Given the description of an element on the screen output the (x, y) to click on. 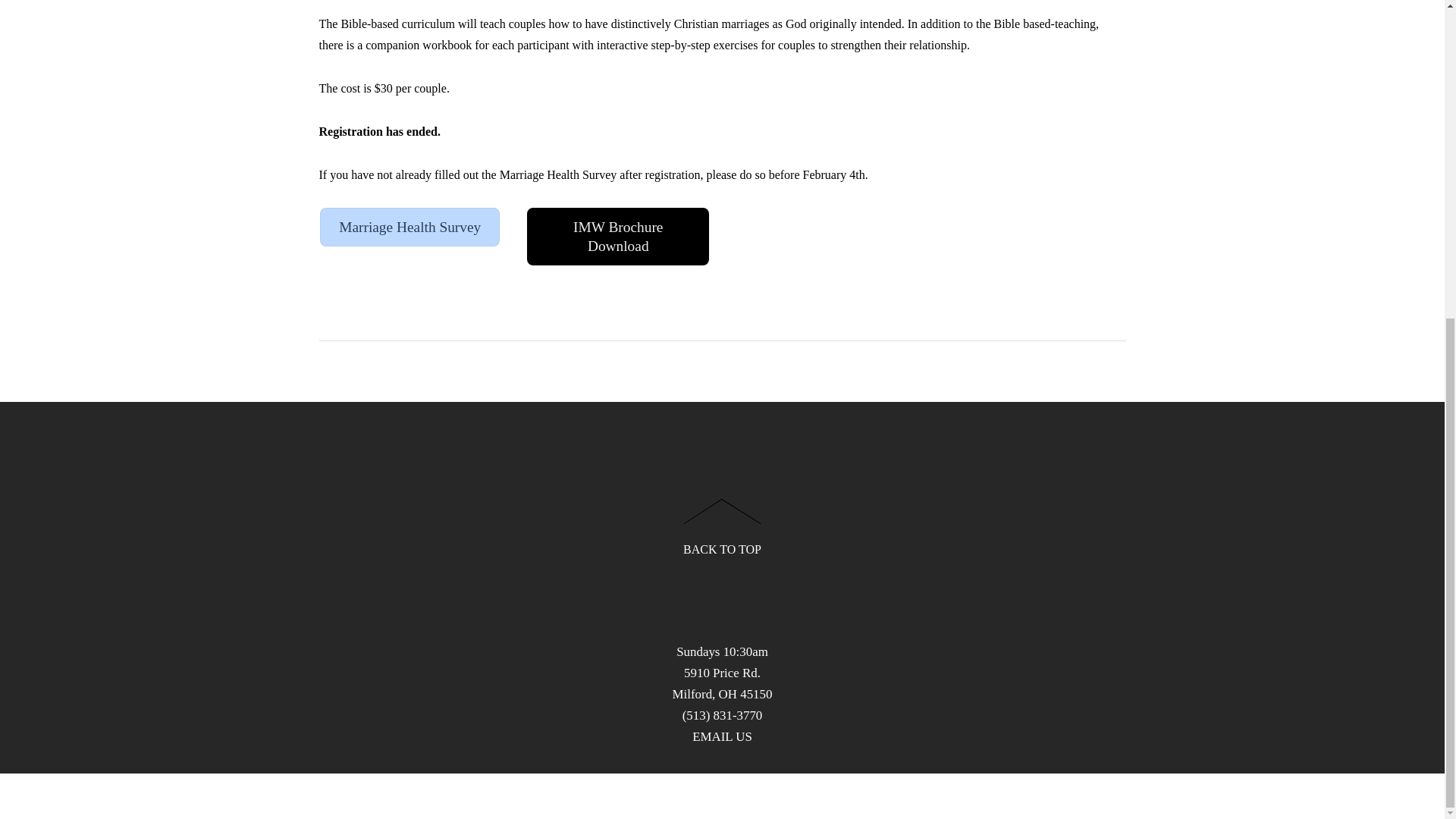
IMW Brochure Download (618, 237)
BACK TO TOP (721, 521)
ONE SERVICE SUNDAY (394, 329)
EMAIL US (722, 736)
Marriage Health Survey (409, 227)
MOTHER SON CARNIVAL EXTRAVAGANZA (992, 329)
